Given the description of an element on the screen output the (x, y) to click on. 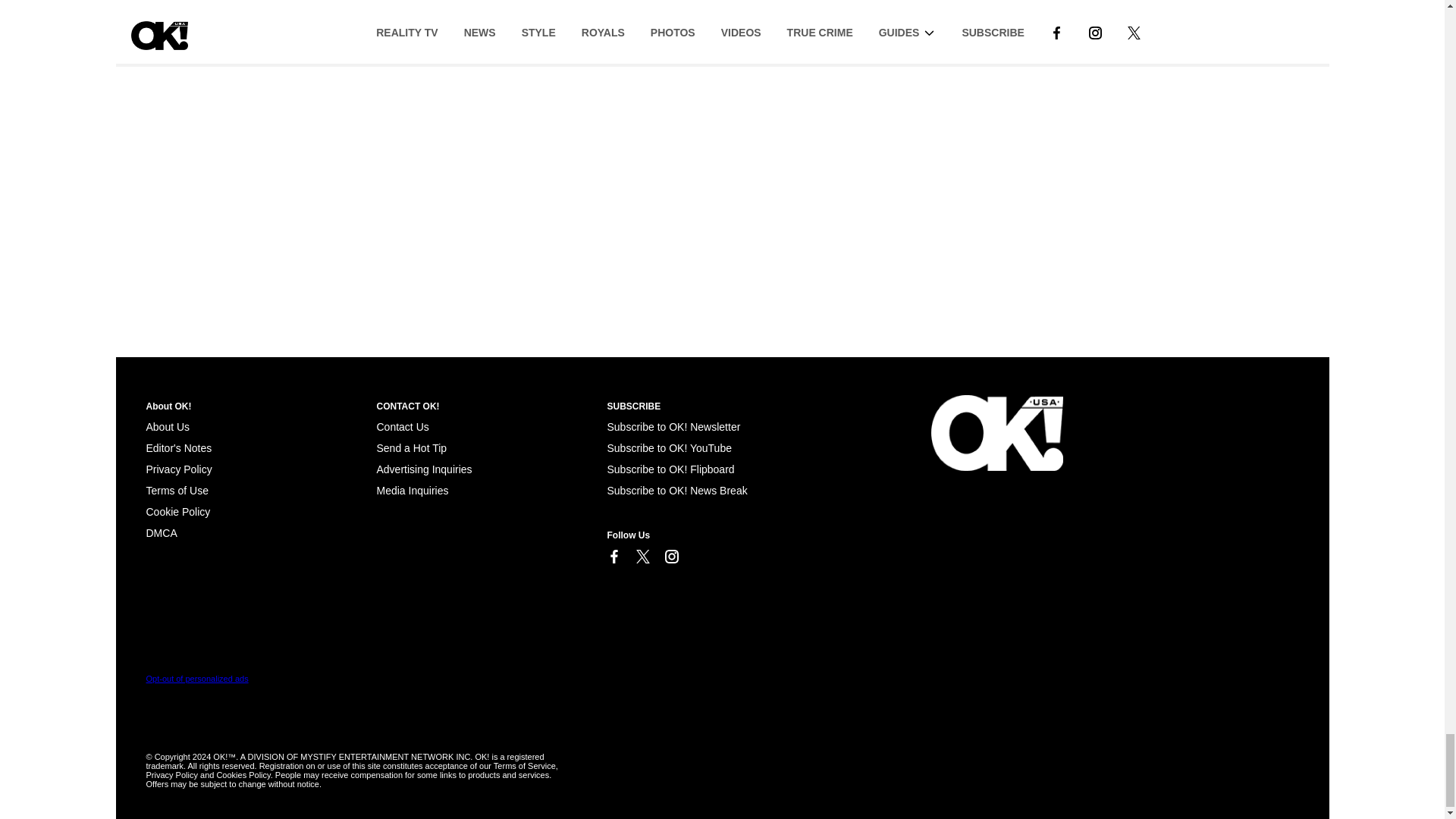
Cookie Policy (177, 511)
Link to Facebook (613, 556)
Link to X (641, 556)
About Us (167, 426)
Send a Hot Tip (410, 448)
Terms of Use (176, 490)
Contact Us (401, 426)
Cookie Policy (160, 532)
Link to Instagram (670, 556)
Editor's Notes (178, 448)
